Given the description of an element on the screen output the (x, y) to click on. 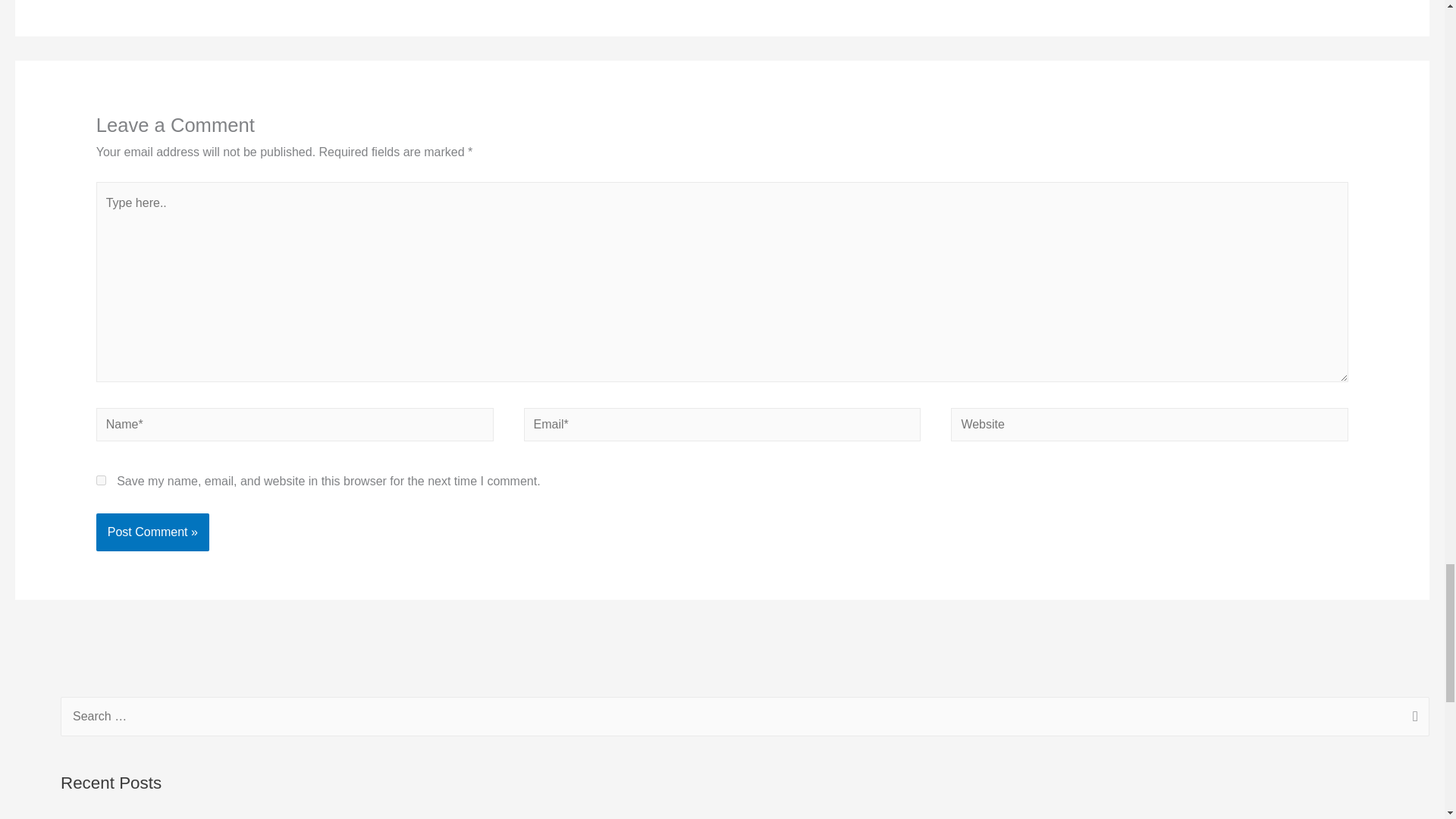
yes (101, 480)
